Given the description of an element on the screen output the (x, y) to click on. 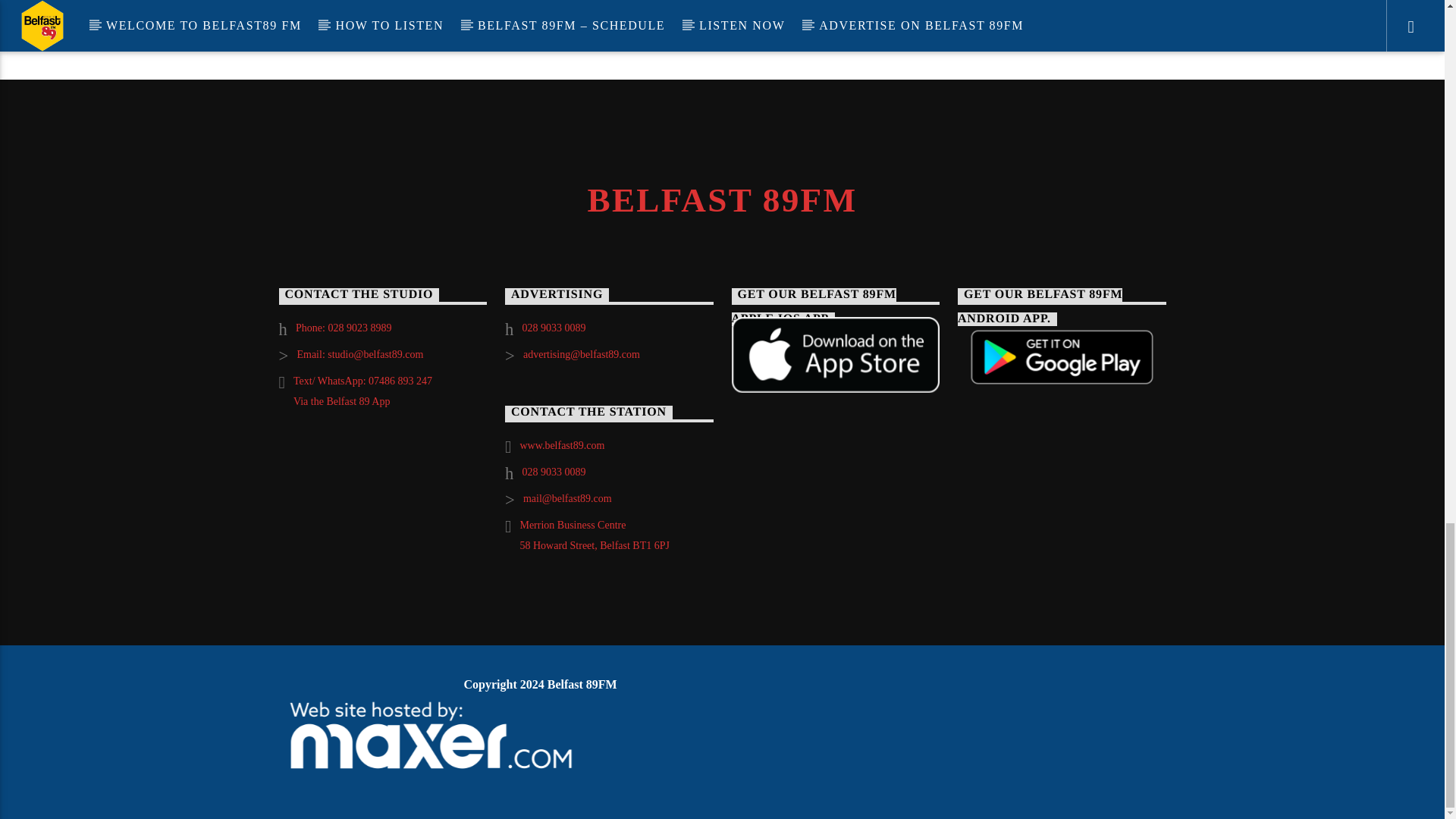
BELFAST 89FM (721, 200)
Get our Belfast 89FM Apple IOS App (834, 354)
Phone: 028 9023 8989 (343, 327)
